Given the description of an element on the screen output the (x, y) to click on. 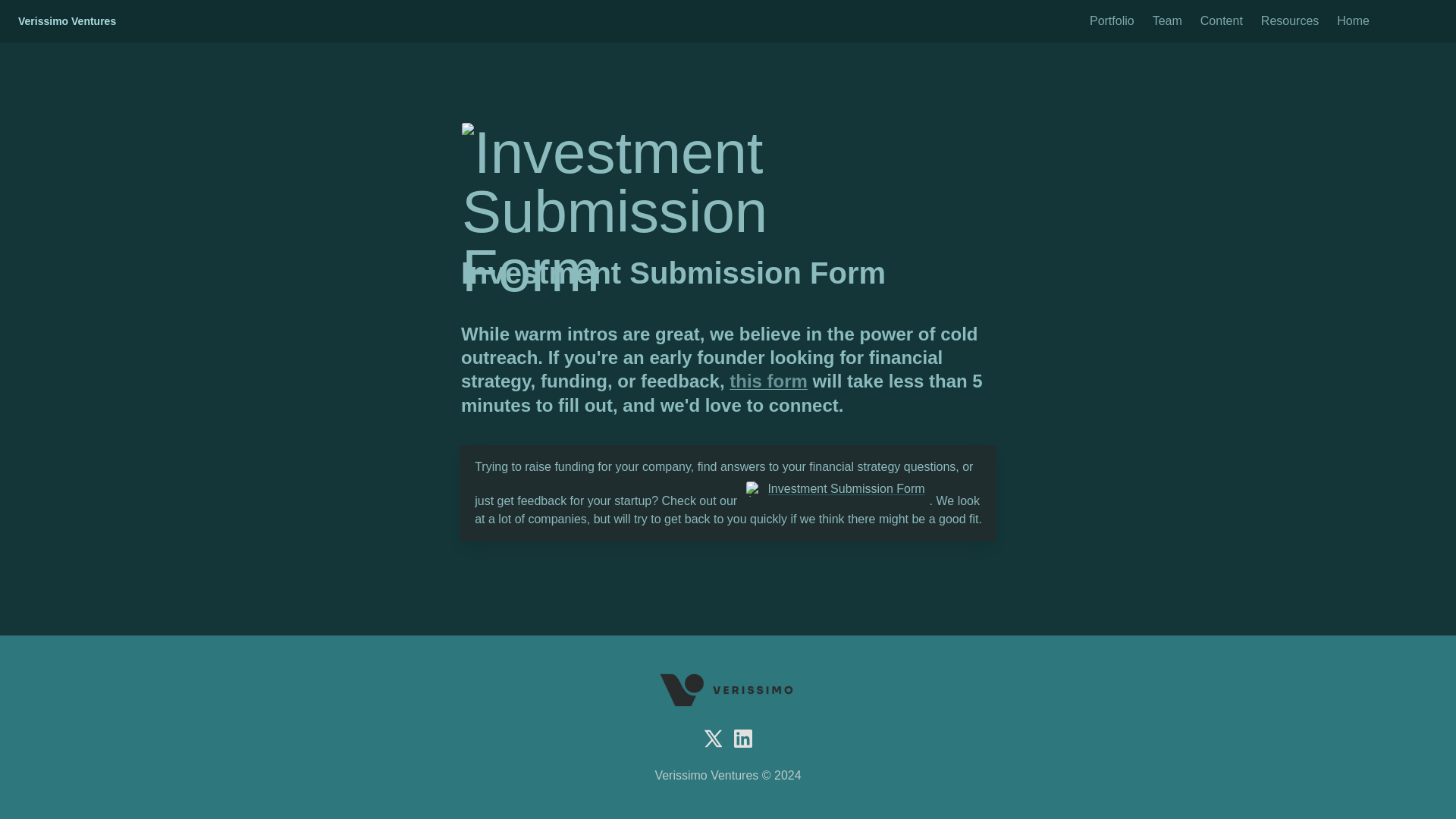
X (712, 738)
X (712, 738)
this form (768, 381)
Investment Submission Form (835, 488)
Verissimo Ventures (66, 21)
Portfolio (1111, 21)
Content (1221, 21)
Team (1166, 21)
LinkedIn (742, 738)
Home (1352, 21)
Resources (1289, 21)
LinkedIn (742, 738)
